Given the description of an element on the screen output the (x, y) to click on. 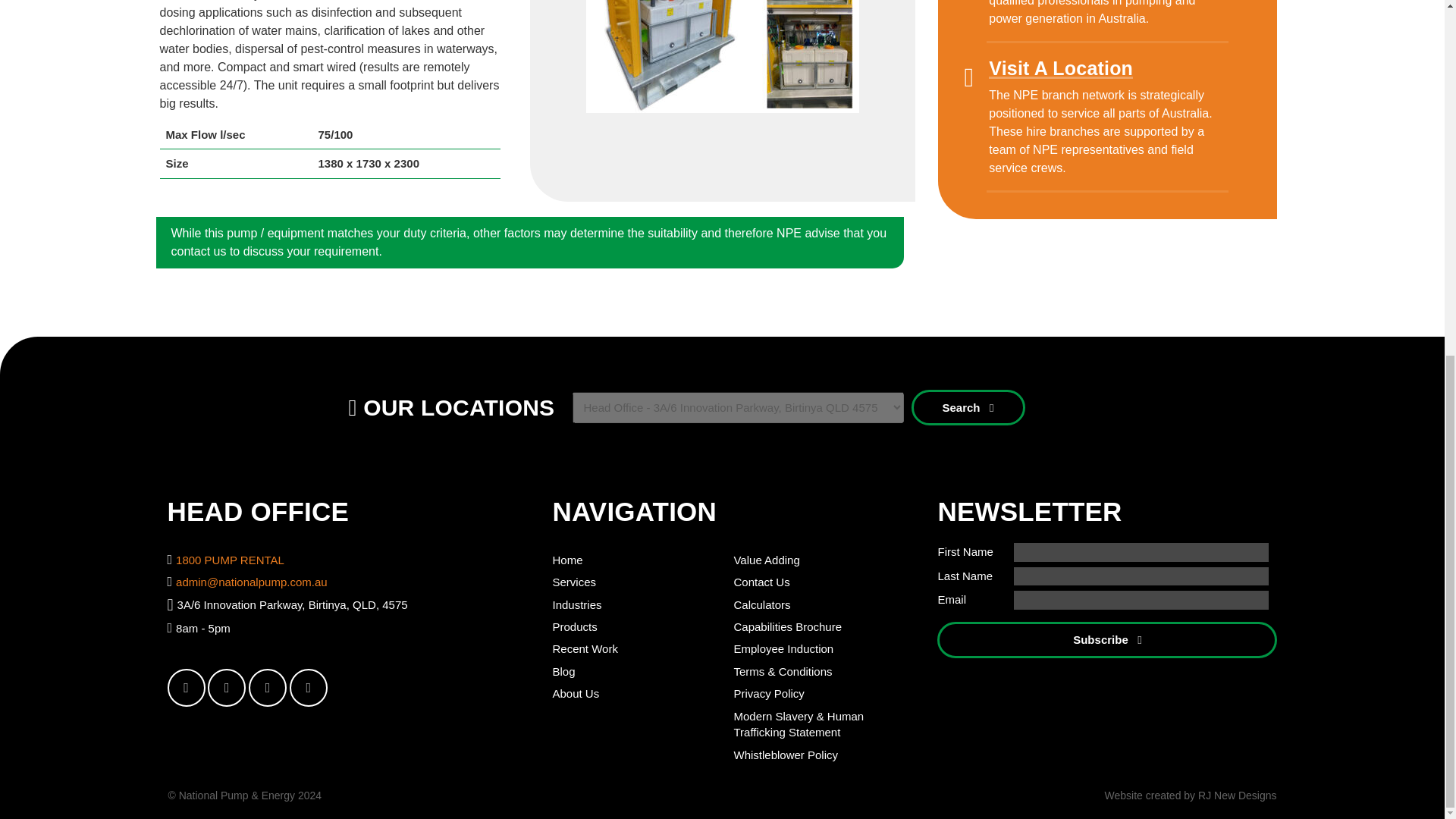
Value Adding (766, 559)
Chemical Dosing Unit CDU plus 75 (722, 56)
